Given the description of an element on the screen output the (x, y) to click on. 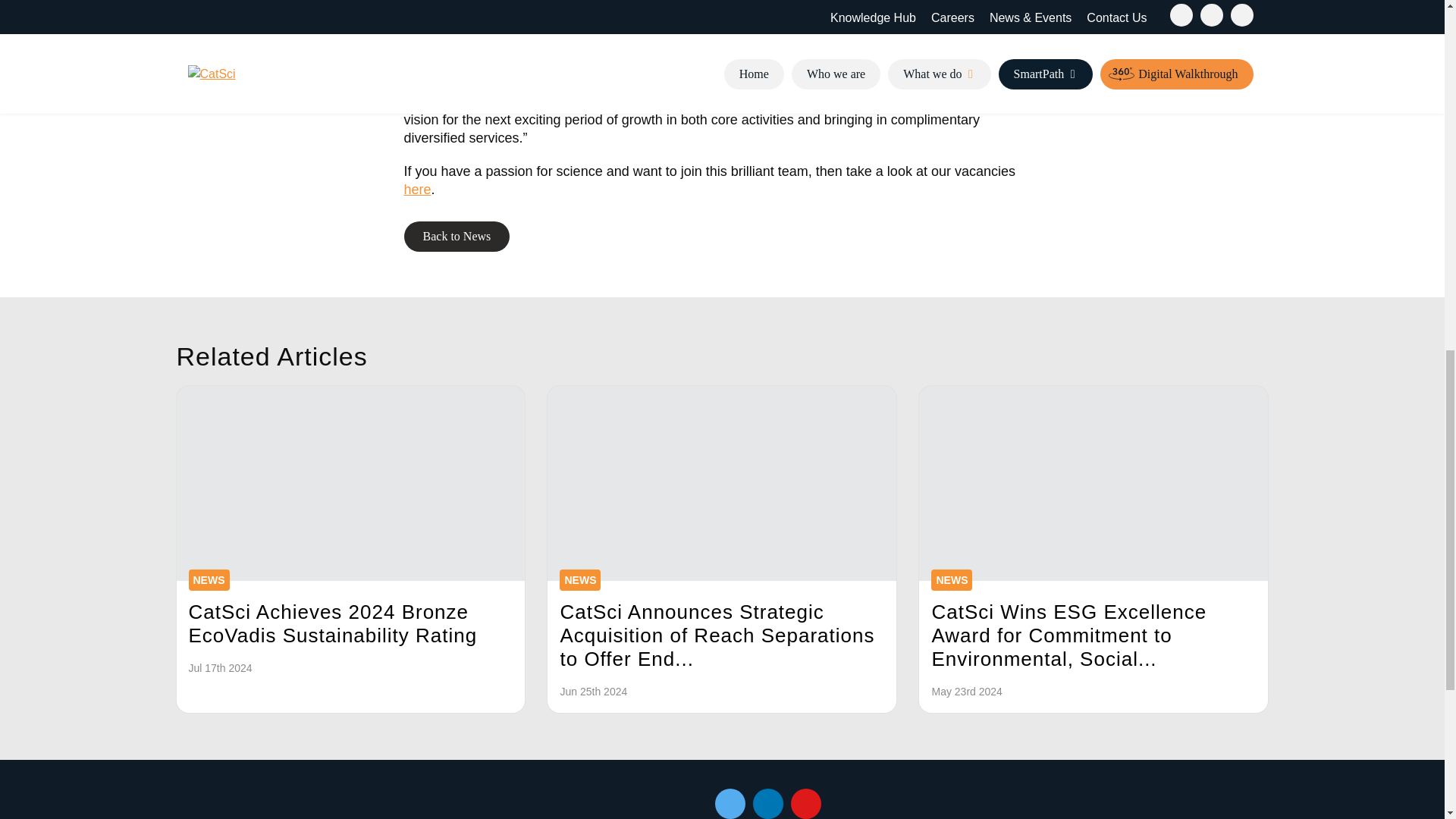
CatSci Achieves 2024 Bronze EcoVadis Sustainability Rating (350, 482)
here (416, 189)
Back to News (456, 236)
